Given the description of an element on the screen output the (x, y) to click on. 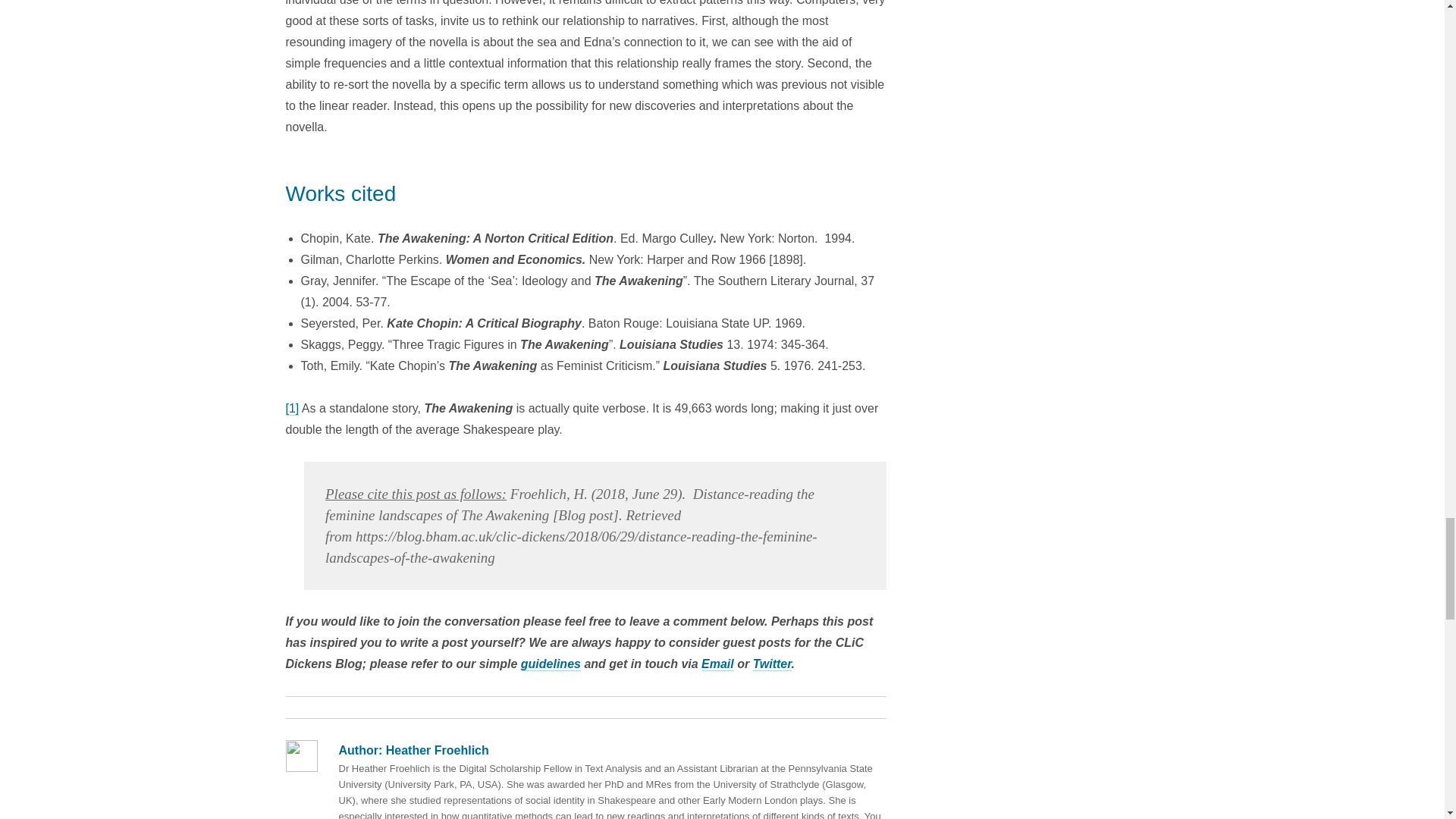
Twitter (772, 663)
guidelines (550, 663)
Email (717, 663)
